Given the description of an element on the screen output the (x, y) to click on. 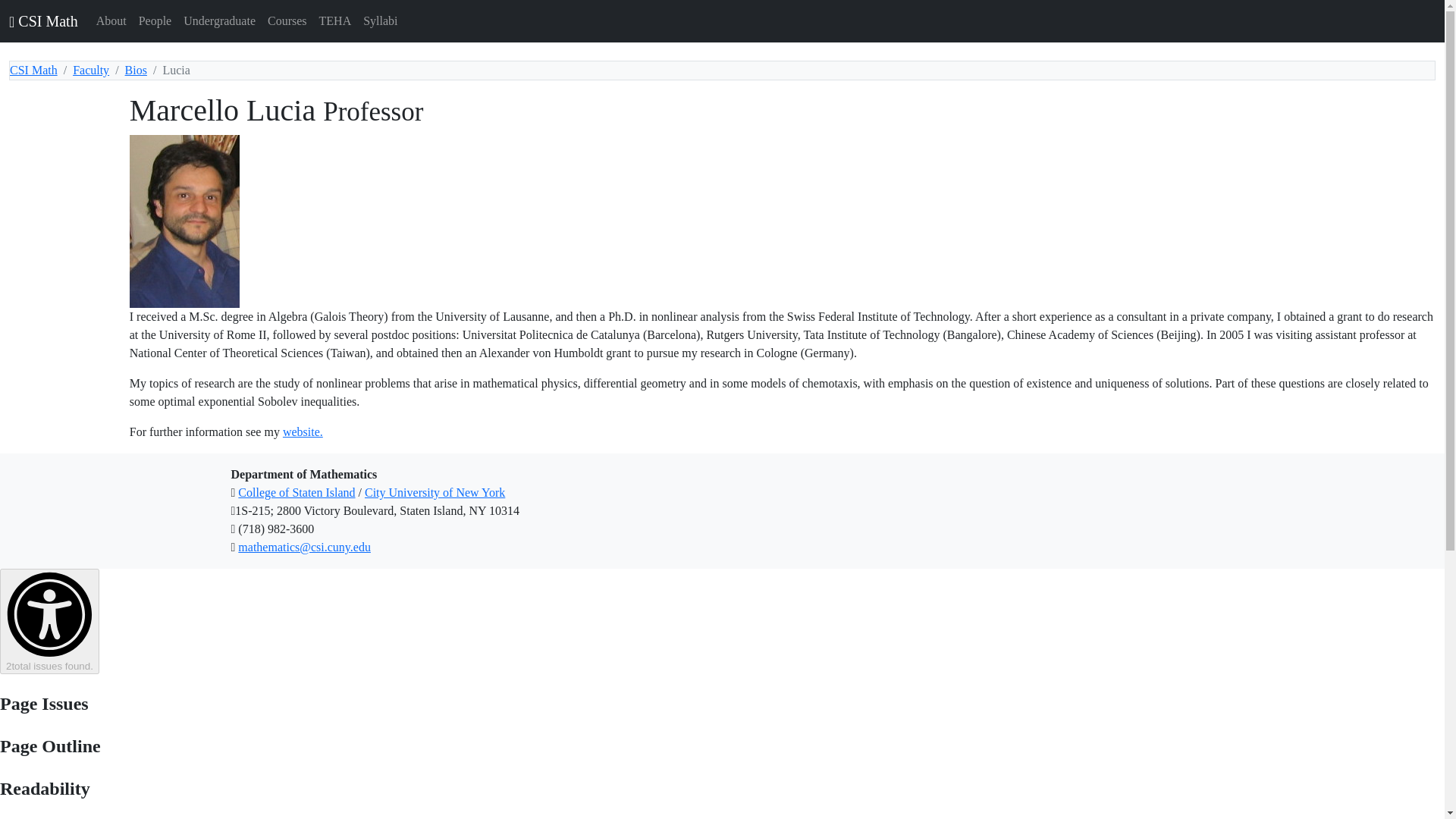
People (154, 20)
Courses (287, 20)
Course Outlines (379, 20)
Faculty (90, 69)
CSI Math (43, 20)
Faculty and Staff listing (154, 20)
About the department (111, 20)
College of Staten Island (296, 492)
CSI Math (34, 69)
The Teacher Education Honors Academy (335, 20)
